Given the description of an element on the screen output the (x, y) to click on. 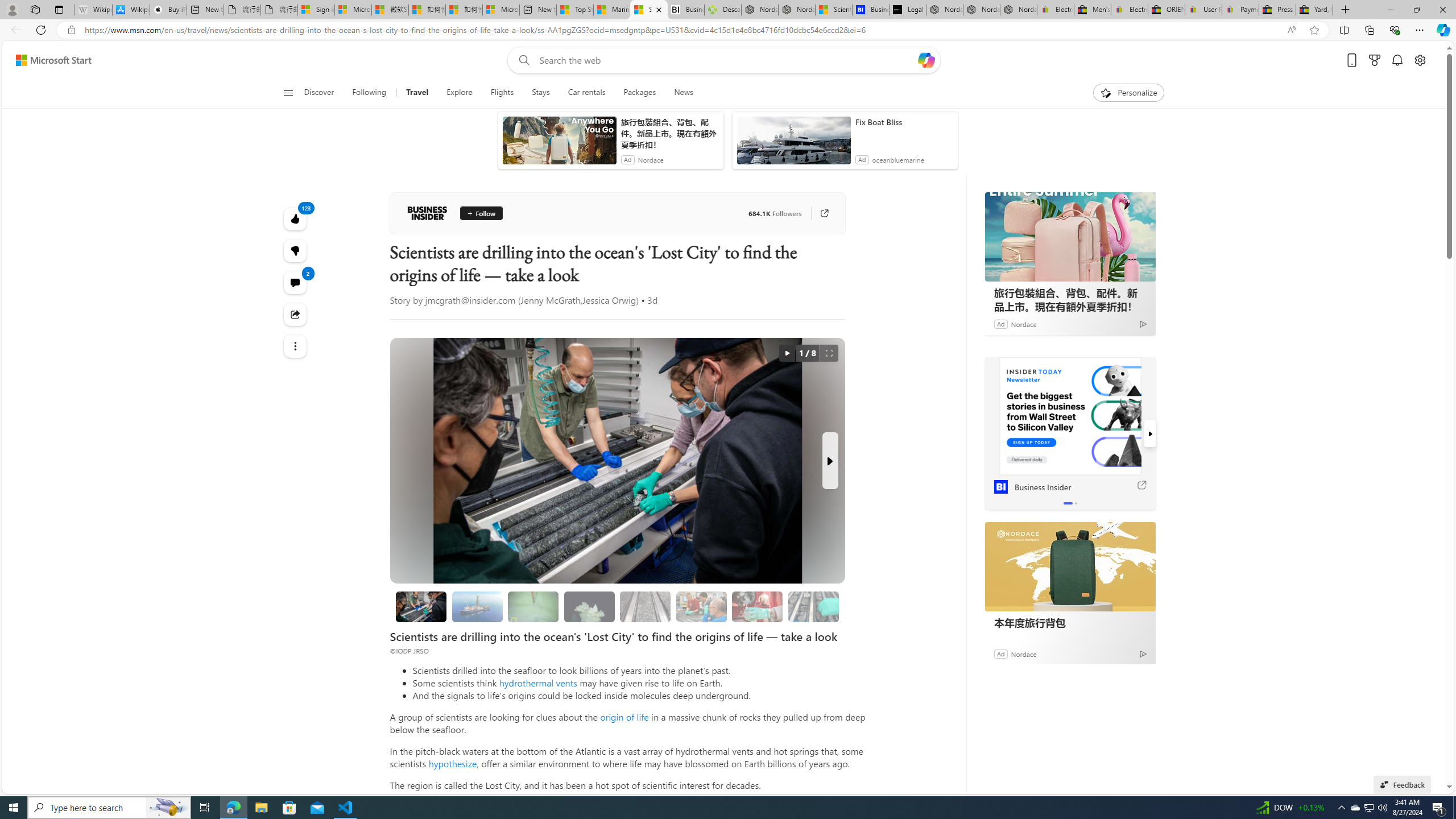
Business Insider (1070, 416)
Flights (501, 92)
Web search (520, 60)
The Lost City could hold clues to the origin of life. (589, 606)
Descarga Driver Updater (721, 9)
Car rentals (586, 92)
